Given the description of an element on the screen output the (x, y) to click on. 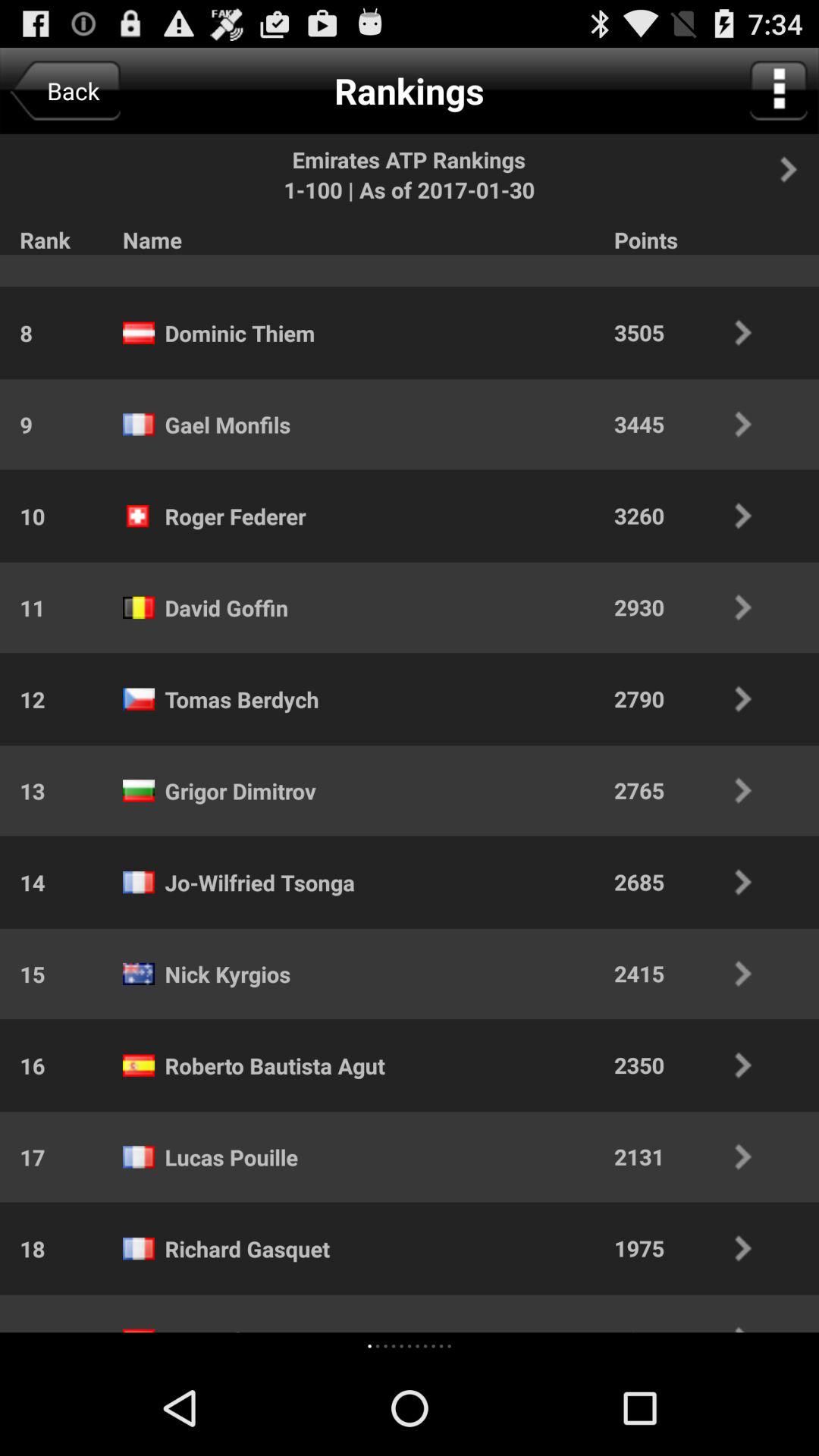
scroll to 8 (16, 332)
